Given the description of an element on the screen output the (x, y) to click on. 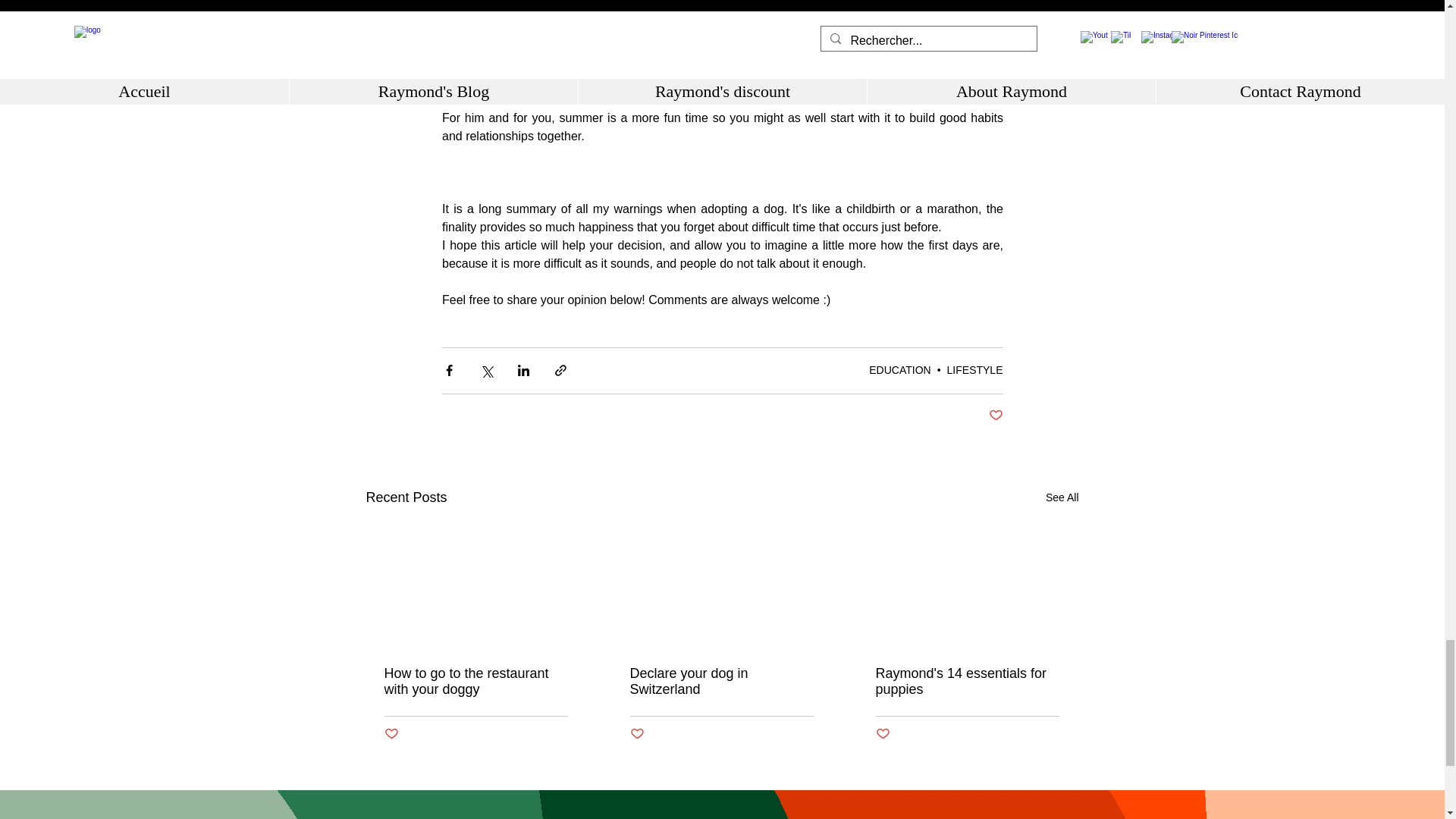
How to go to the restaurant with your doggy (475, 681)
Post not marked as liked (995, 415)
Declare your dog in Switzerland (720, 681)
LIFESTYLE (975, 369)
EDUCATION (899, 369)
Post not marked as liked (390, 734)
See All (1061, 497)
